Given the description of an element on the screen output the (x, y) to click on. 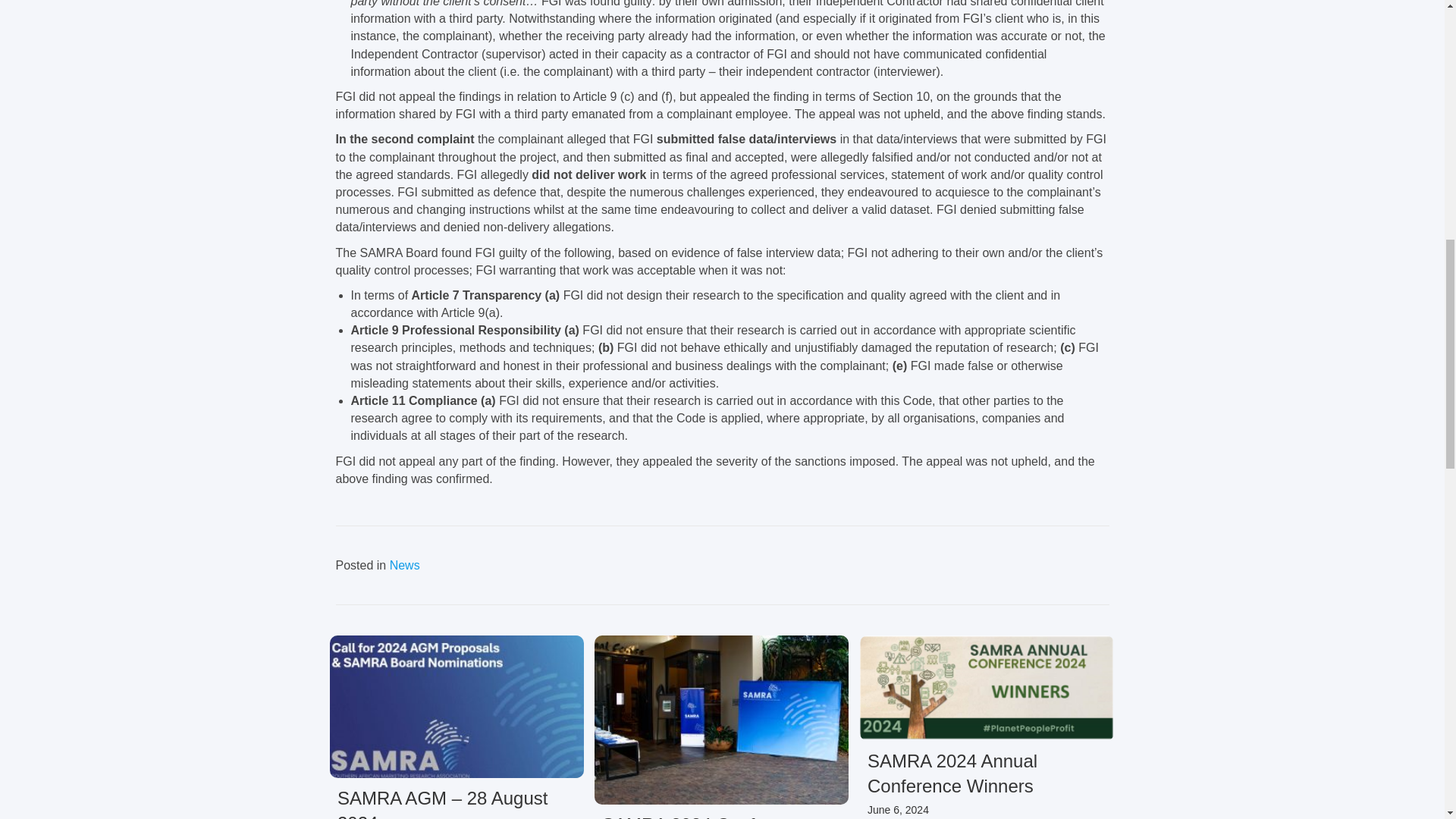
SAMRA 2024 Conference (706, 816)
SAMRA 2024 Annual Conference Winners (951, 773)
SAMRA 2024 Annual Conference Winners (951, 773)
News (405, 564)
SAMRA 2024 Conference (706, 816)
SAMRA 2024 Annual Conference Winners (986, 686)
SAMRA 2024 Conference (721, 718)
